Given the description of an element on the screen output the (x, y) to click on. 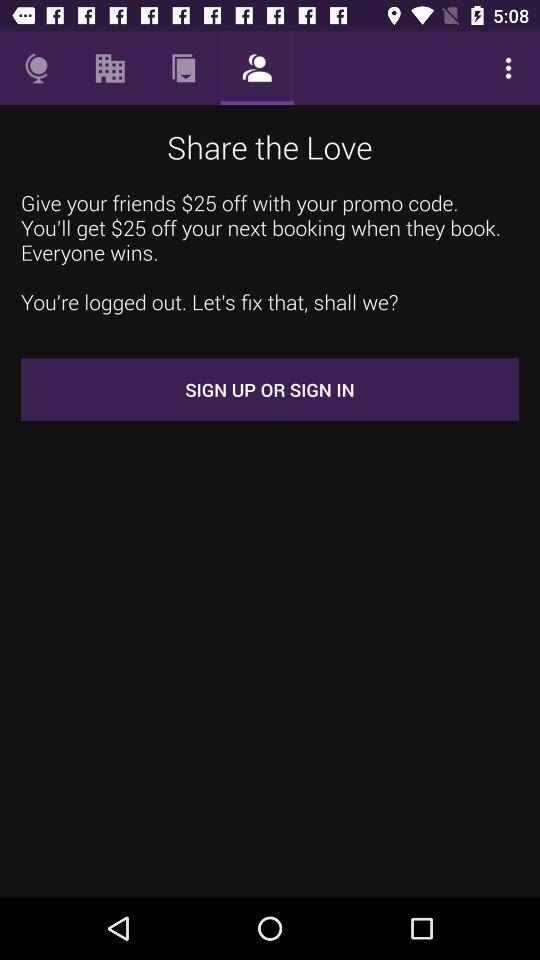
tap sign up or icon (270, 389)
